Given the description of an element on the screen output the (x, y) to click on. 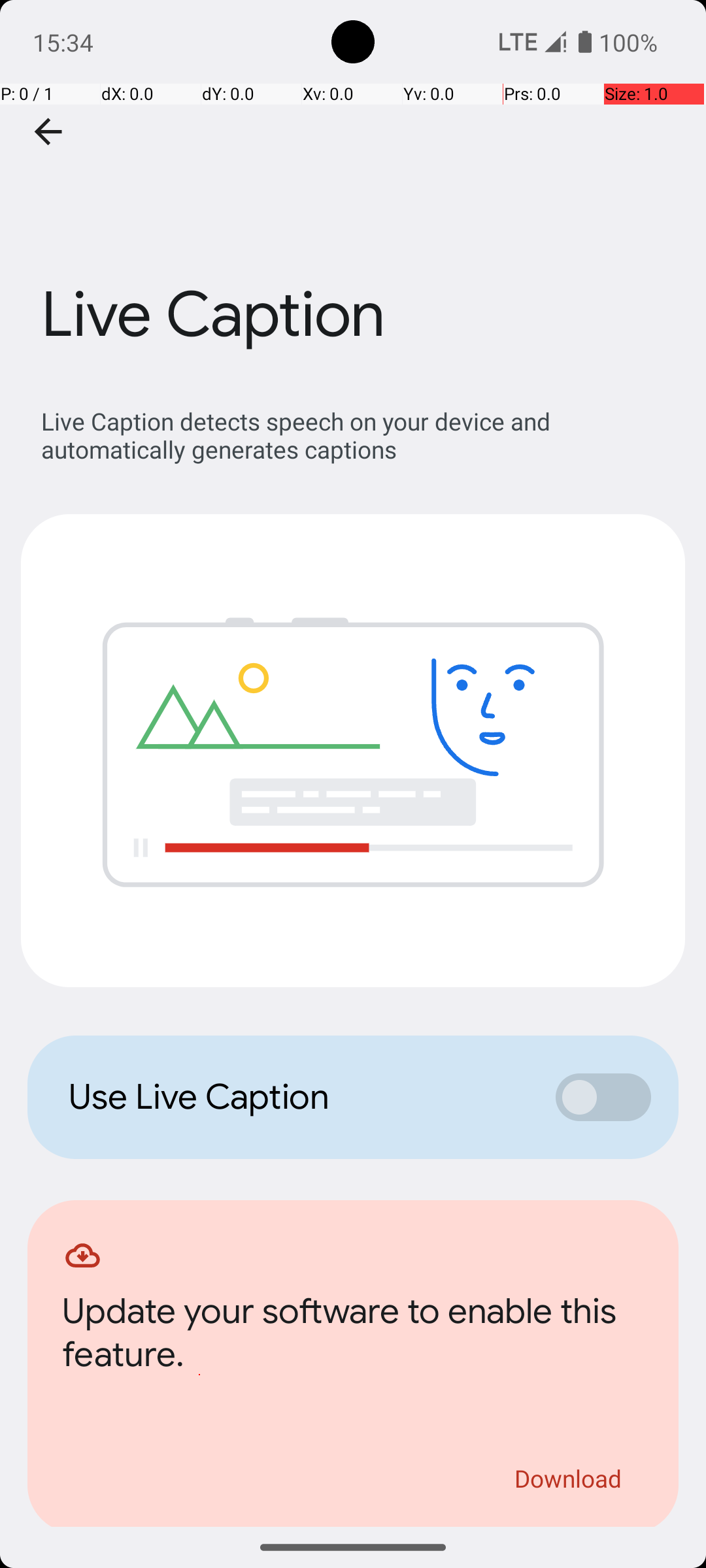
Live Caption detects speech on your device and automatically generates captions Element type: android.widget.TextView (359, 434)
Use Live Caption Element type: android.widget.TextView (298, 1096)
Update your software to enable this feature. Element type: android.widget.TextView (352, 1336)
